Given the description of an element on the screen output the (x, y) to click on. 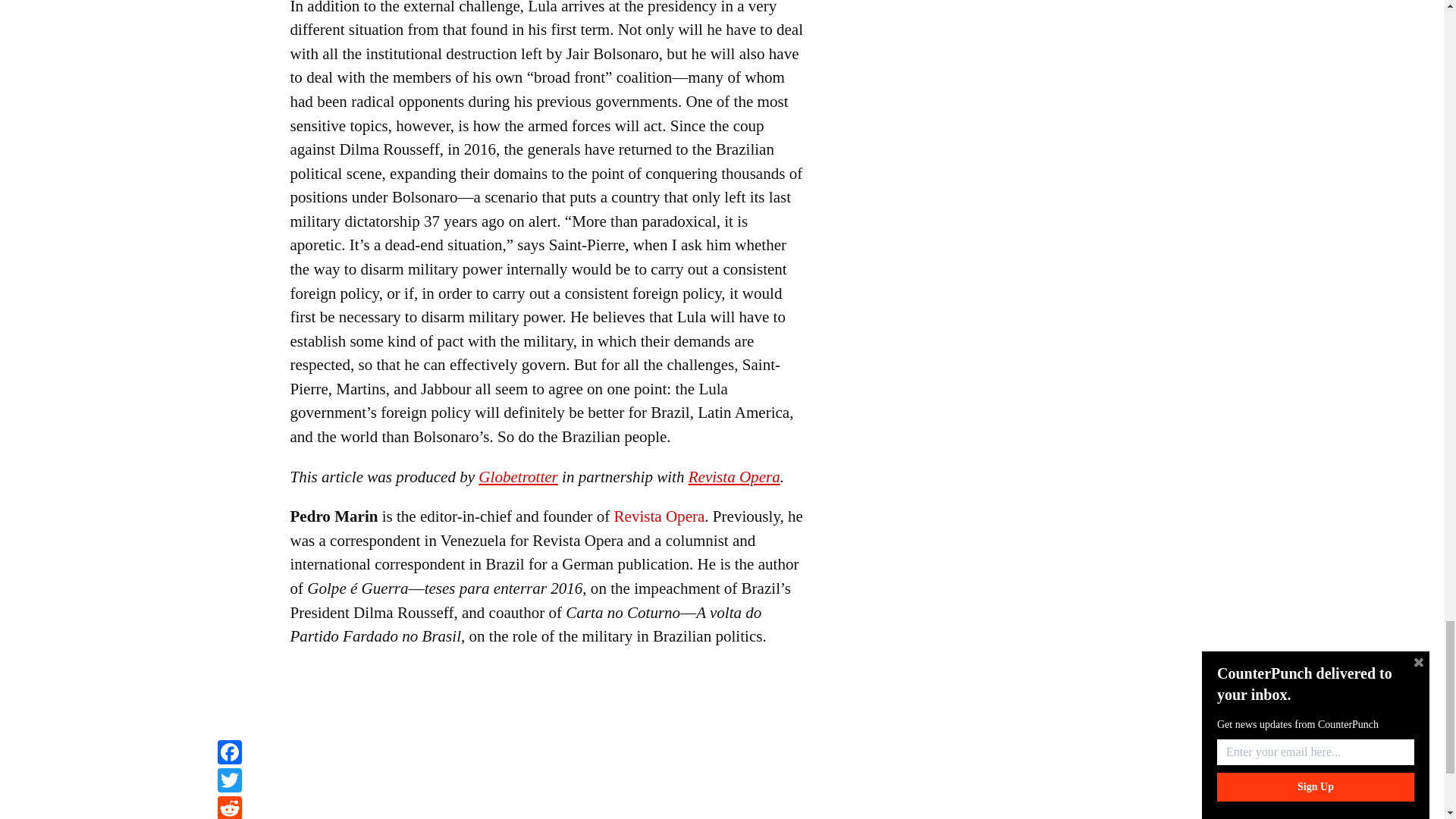
Revista Opera (734, 476)
Globetrotter (518, 476)
